Given the description of an element on the screen output the (x, y) to click on. 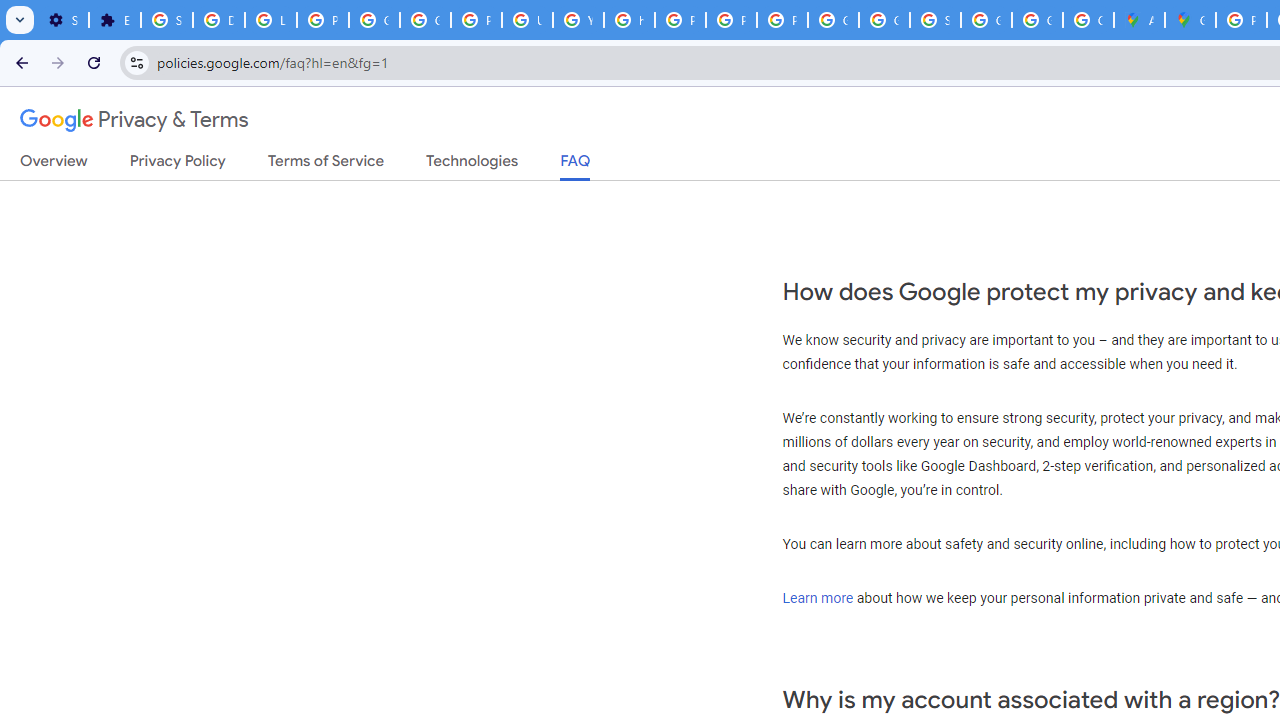
Learn more (817, 597)
YouTube (578, 20)
Settings - On startup (63, 20)
Sign in - Google Accounts (935, 20)
Sign in - Google Accounts (166, 20)
